Given the description of an element on the screen output the (x, y) to click on. 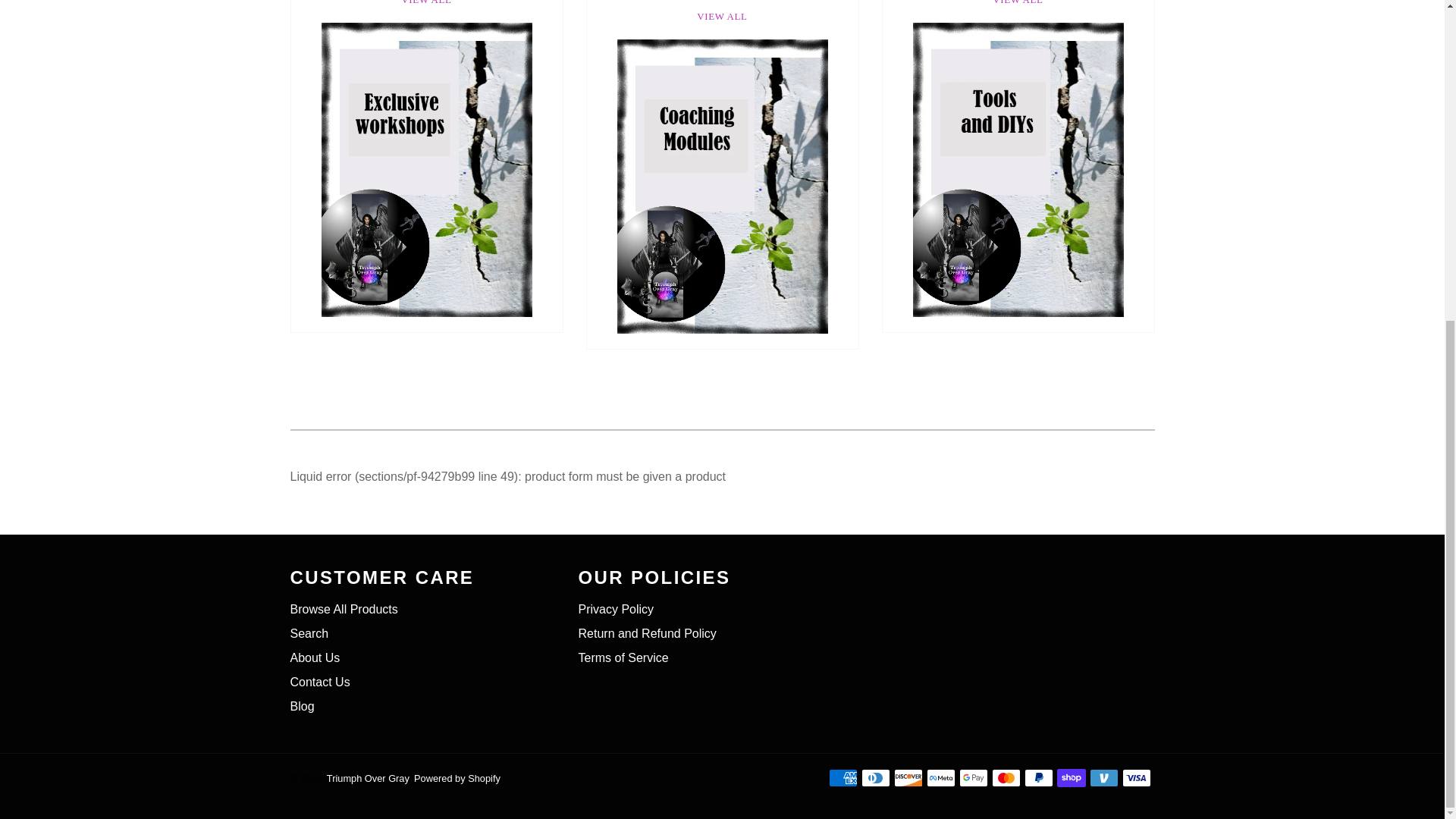
Triumph Over Gray (367, 778)
Blog (301, 706)
Terms of Service (623, 657)
Return and Refund Policy (647, 633)
About Us (314, 657)
Search (309, 633)
Privacy Policy (615, 608)
Contact Us (319, 681)
Browse All Products (343, 608)
Powered by Shopify (456, 778)
